Given the description of an element on the screen output the (x, y) to click on. 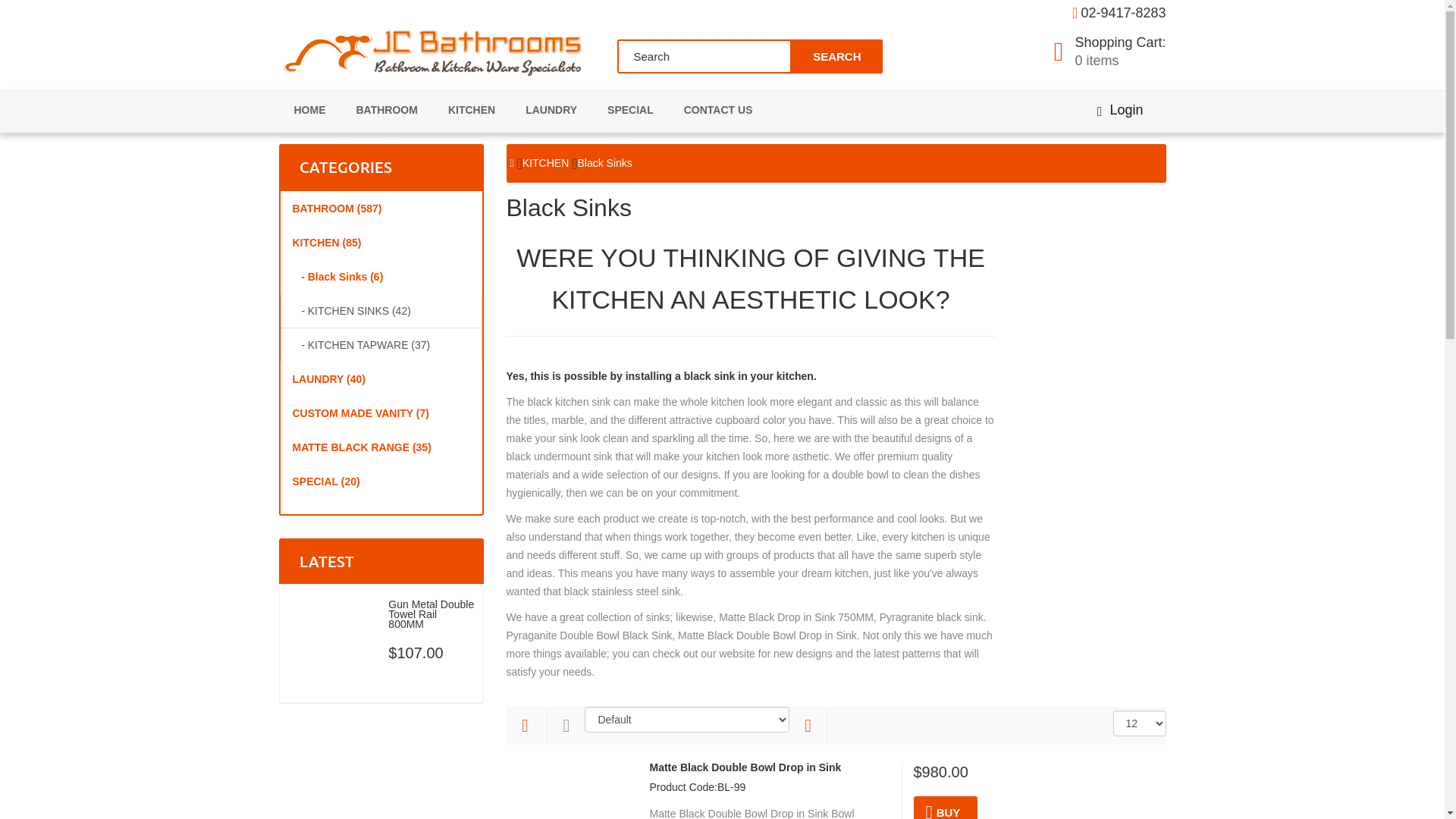
MATTE BLACK RANGE (35) Element type: text (381, 446)
Login Element type: text (1120, 111)
SPECIAL Element type: text (630, 109)
JC Bathrooms Element type: hover (430, 50)
CONTACT US Element type: text (718, 109)
LAUNDRY (40) Element type: text (381, 378)
SEARCH Element type: text (835, 56)
BATHROOM (587) Element type: text (381, 208)
SPECIAL (20) Element type: text (381, 481)
KITCHEN Element type: text (471, 109)
Gun Metal Double Towel Rail 800MM Element type: text (431, 614)
KITCHEN Element type: text (545, 162)
   - Black Sinks (6) Element type: text (381, 276)
CUSTOM MADE VANITY (7) Element type: text (381, 412)
   - KITCHEN SINKS (42) Element type: text (381, 310)
LAUNDRY Element type: text (550, 109)
Matte Black Double Bowl Drop in Sink Element type: text (744, 767)
HOME Element type: text (309, 109)
02-9417-8283 Element type: text (1122, 12)
BATHROOM Element type: text (386, 109)
KITCHEN (85) Element type: text (381, 242)
Shopping Cart:
0 items Element type: text (1110, 52)
   - KITCHEN TAPWARE (37) Element type: text (381, 344)
Black Sinks Element type: text (604, 162)
